Given the description of an element on the screen output the (x, y) to click on. 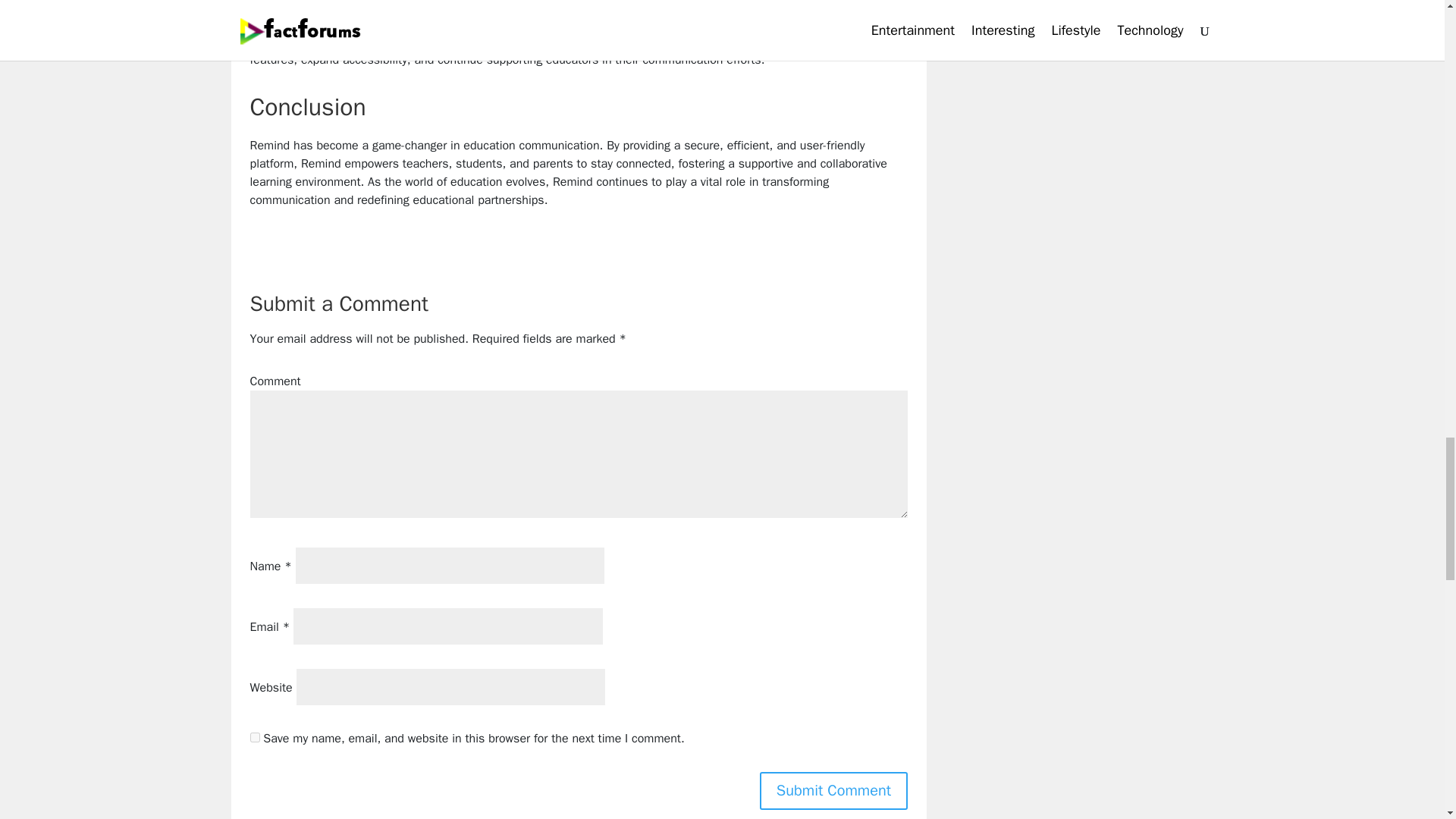
Submit Comment (833, 790)
yes (255, 737)
Submit Comment (833, 790)
